Given the description of an element on the screen output the (x, y) to click on. 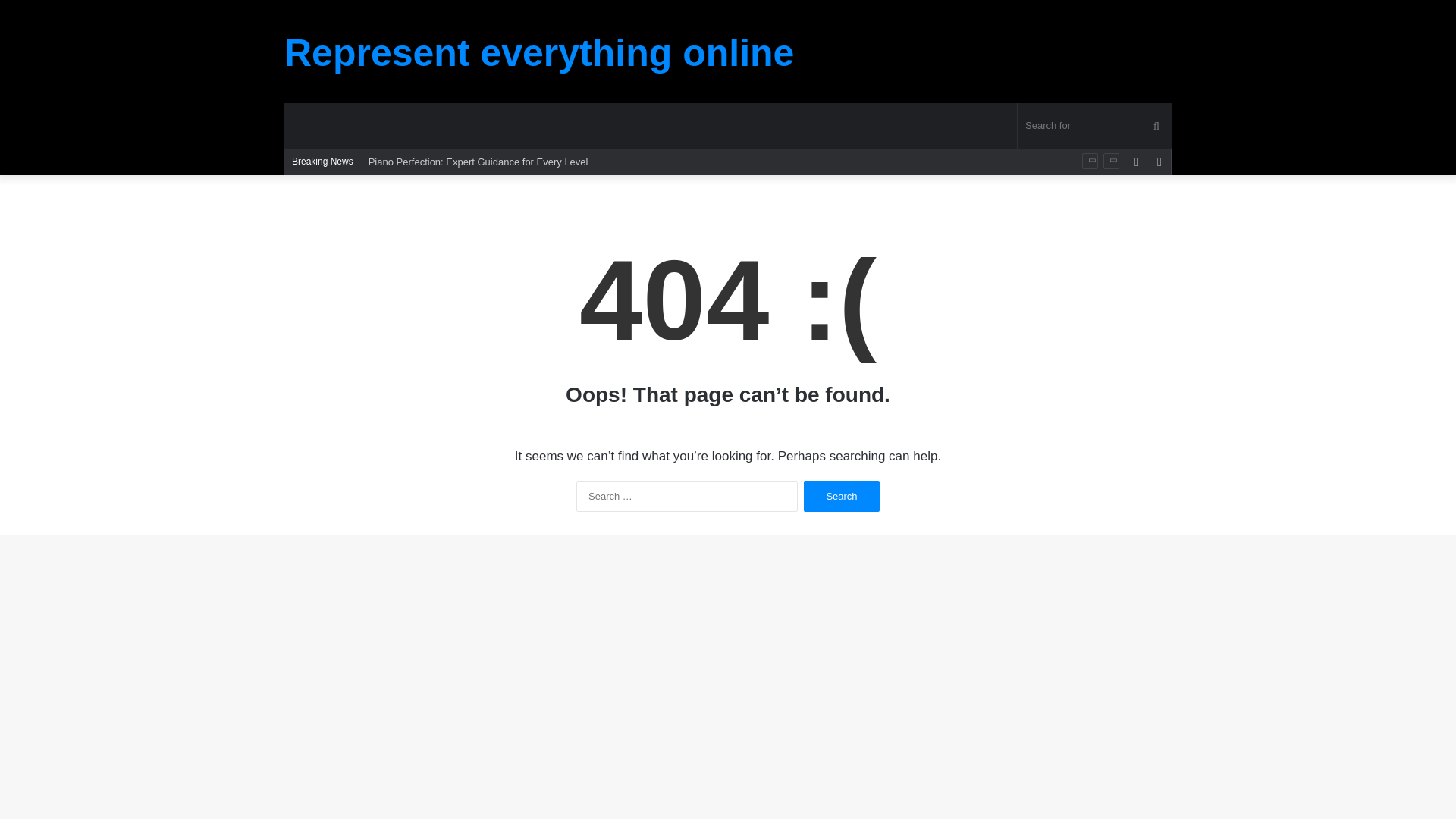
Represent everything online (538, 53)
Search (841, 495)
Search (841, 495)
Search for (1094, 125)
Piano Perfection: Expert Guidance for Every Level (478, 161)
Represent everything online (538, 53)
Search (841, 495)
